Given the description of an element on the screen output the (x, y) to click on. 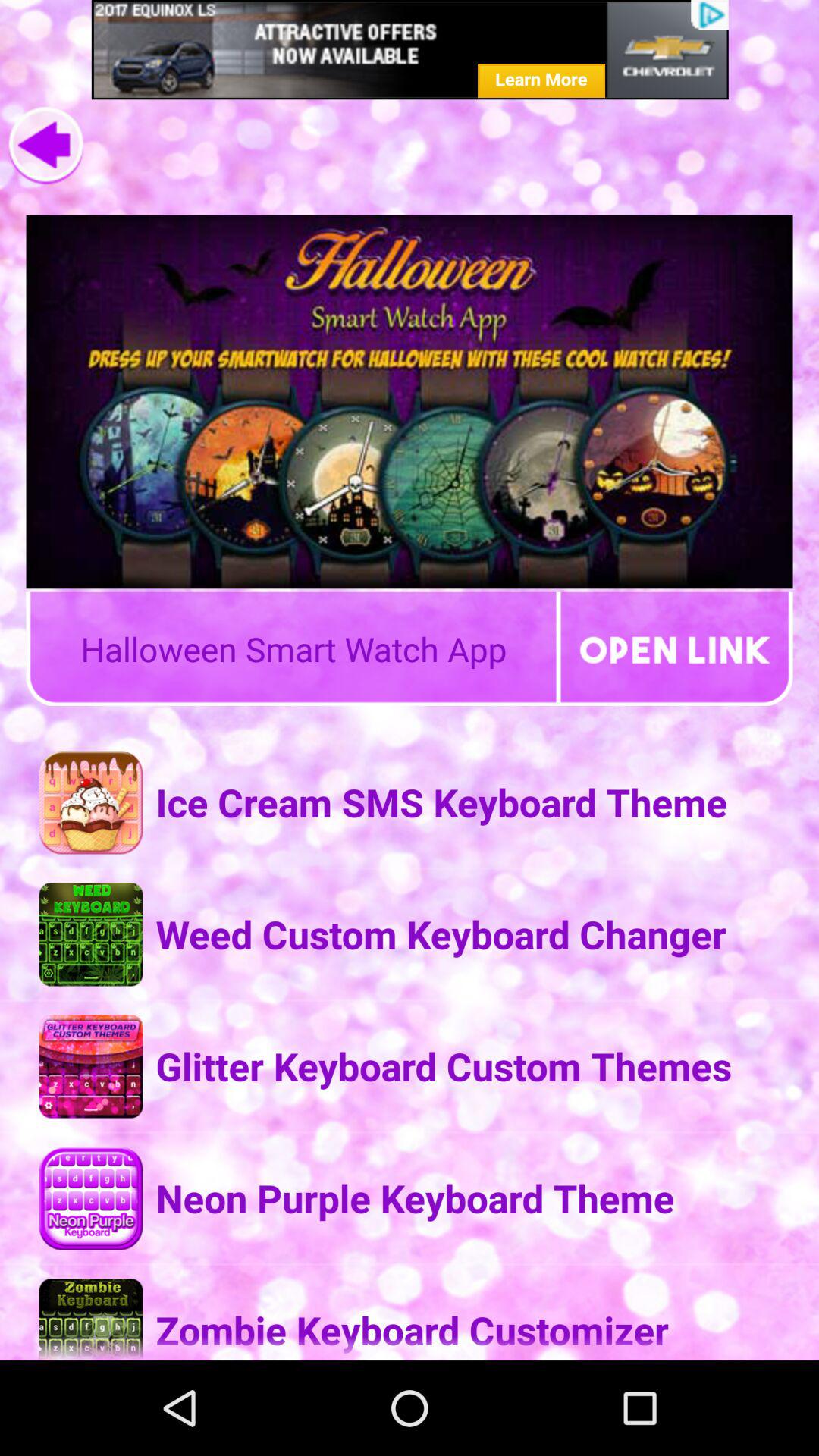
click on the image which is in fifth row  bottom of the page (90, 1318)
